Given the description of an element on the screen output the (x, y) to click on. 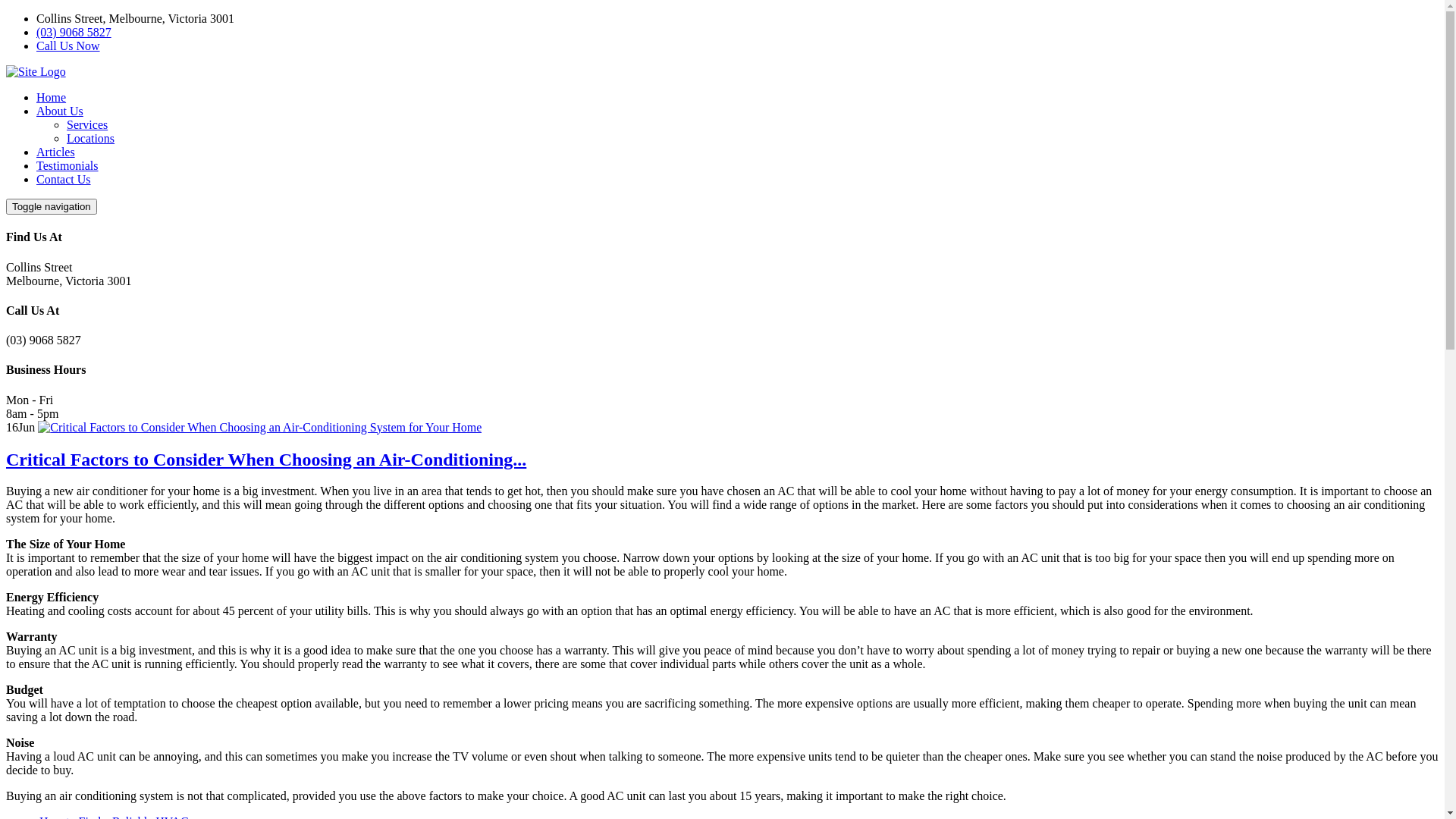
Articles Element type: text (55, 151)
(03) 9068 5827 Element type: text (73, 31)
Services Element type: text (86, 124)
Contact Us Element type: text (63, 178)
Locations Element type: text (90, 137)
Toggle navigation Element type: text (51, 206)
Call Us Now Element type: text (68, 45)
About Us Element type: text (59, 110)
Testimonials Element type: text (67, 165)
Home Element type: text (50, 97)
